Given the description of an element on the screen output the (x, y) to click on. 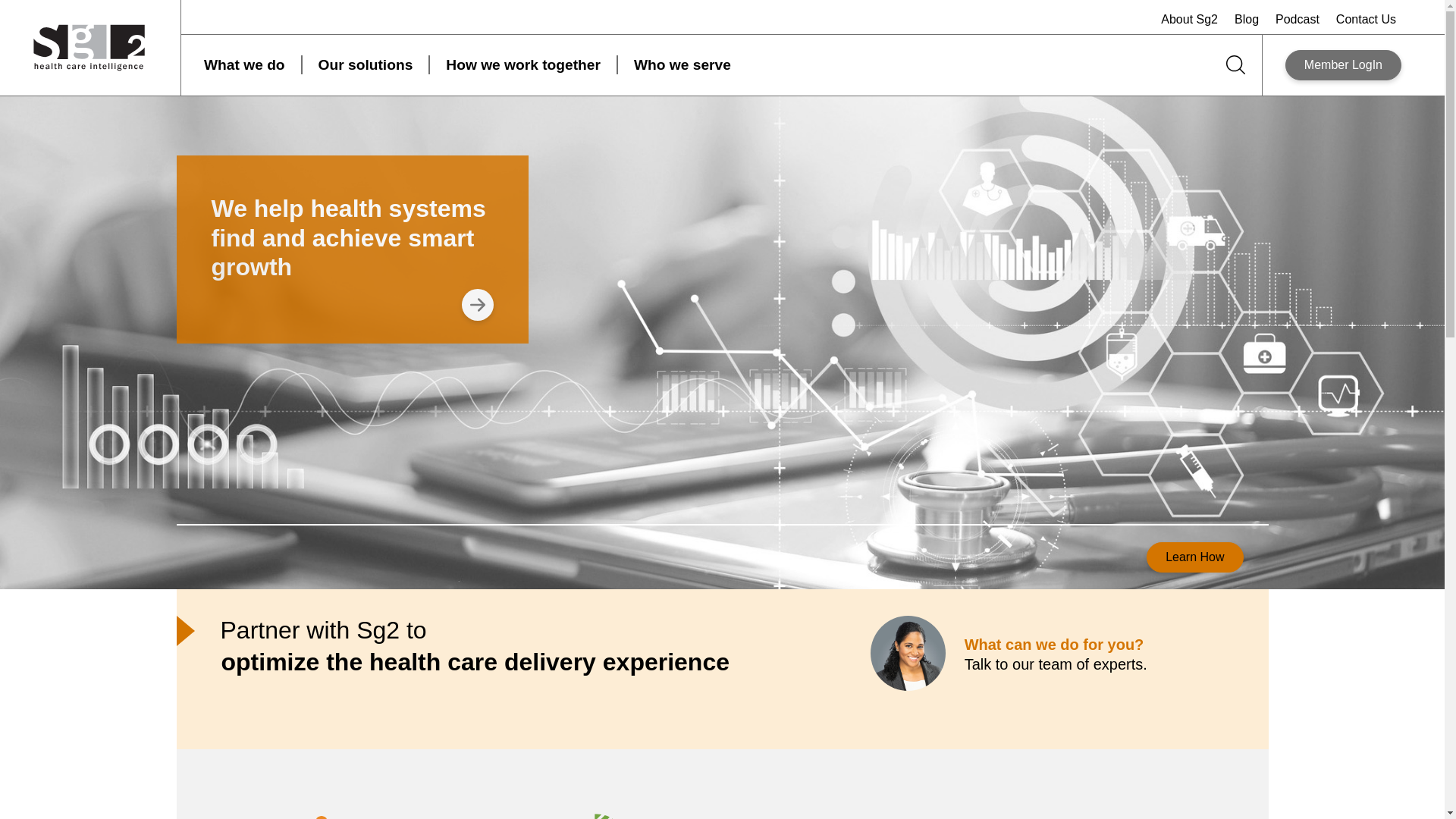
What we do (244, 65)
Member LogIn (1342, 64)
Our solutions (365, 65)
